Given the description of an element on the screen output the (x, y) to click on. 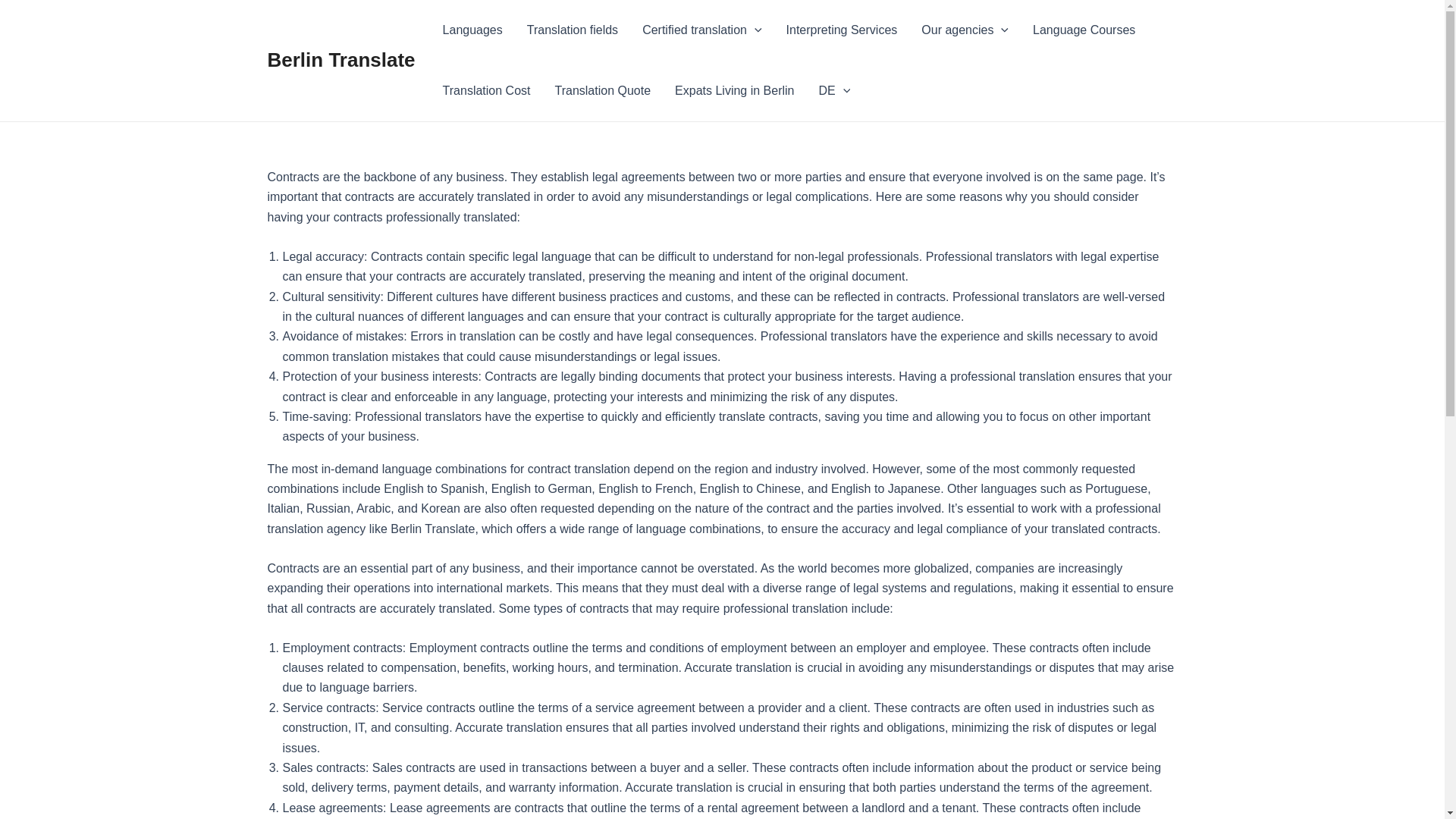
Translation fields (572, 30)
Language Courses (1083, 30)
Translation Cost (486, 90)
Berlin Translate (340, 59)
DE (834, 90)
Translation Quote (601, 90)
Certified translation (701, 30)
Languages (472, 30)
Interpreting Services (842, 30)
Expats Living in Berlin (734, 90)
Our agencies (964, 30)
